Given the description of an element on the screen output the (x, y) to click on. 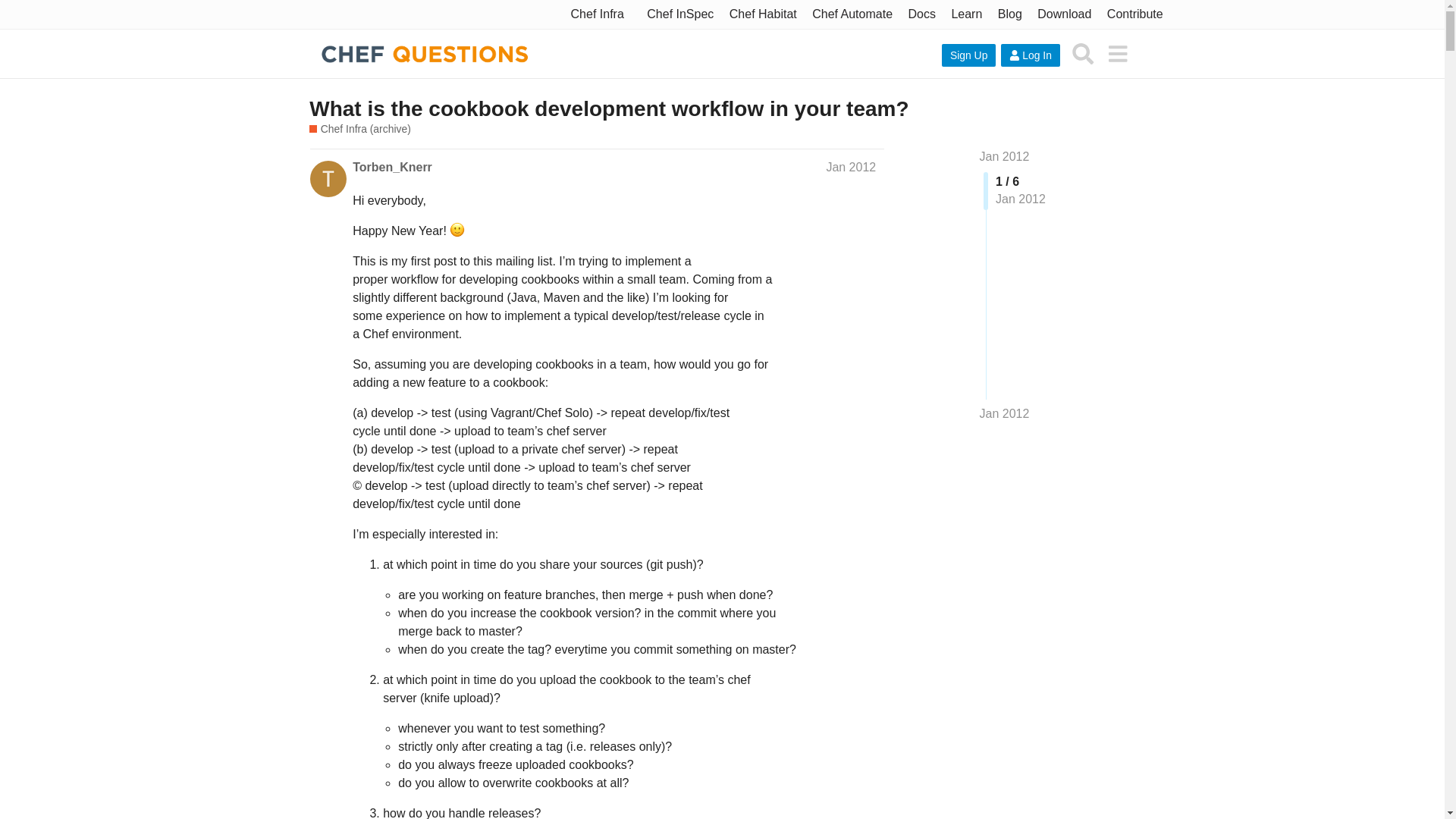
Contribute (1134, 14)
Jan 2012 (850, 166)
Sign Up (968, 55)
Jan 2012 (1004, 155)
Learn (966, 14)
Jan 2012 (1004, 413)
Blog (1009, 14)
Log In (1030, 55)
Post date (850, 166)
Chef Habitat (763, 14)
Chef Infra (597, 14)
Chef InSpec (679, 14)
Download (1063, 14)
Chef Automate (852, 14)
